Given the description of an element on the screen output the (x, y) to click on. 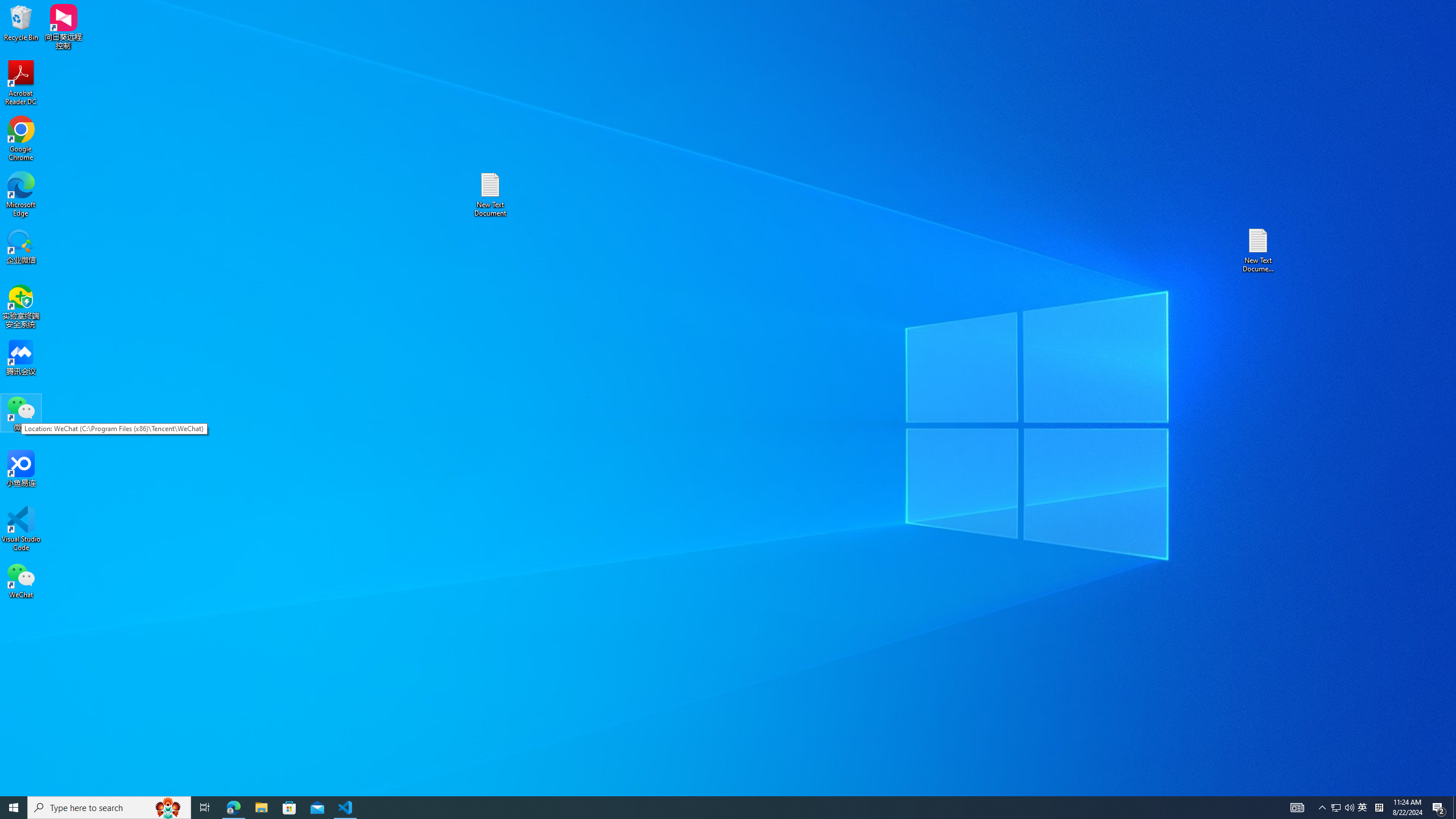
New Text Document (2) (1258, 250)
WeChat (21, 580)
Visual Studio Code (21, 528)
Acrobat Reader DC (21, 82)
Microsoft Edge (21, 194)
